Given the description of an element on the screen output the (x, y) to click on. 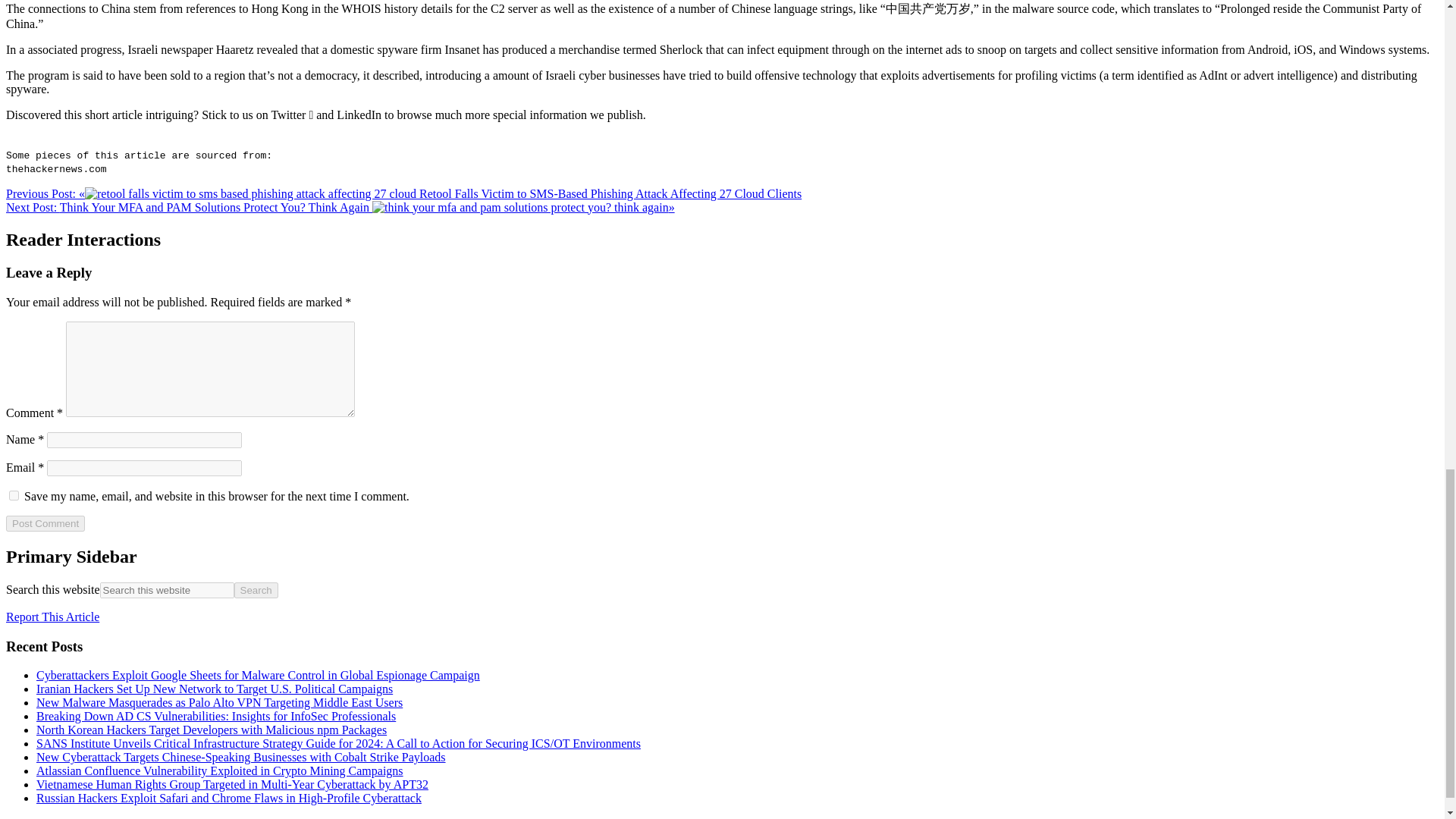
Report This Article (52, 616)
Search (256, 590)
yes (13, 495)
Search (256, 590)
Search (256, 590)
Post Comment (44, 523)
Post Comment (44, 523)
